Given the description of an element on the screen output the (x, y) to click on. 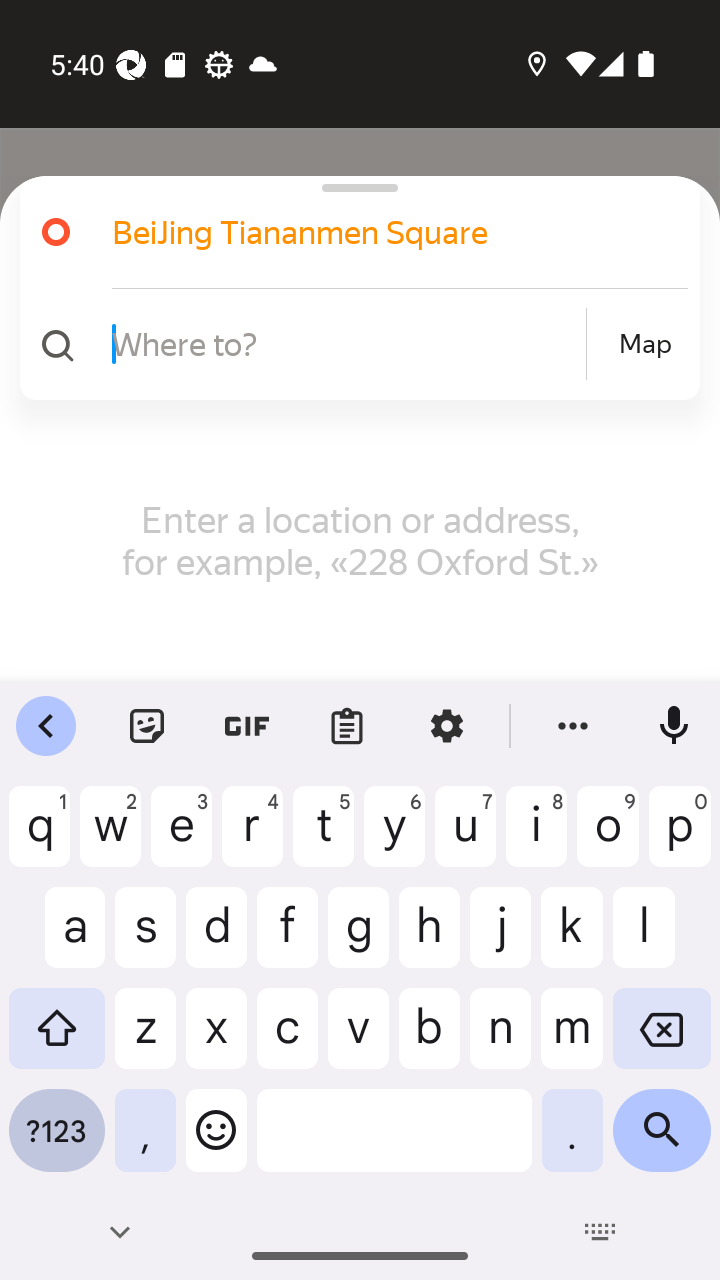
BeiJing Tiananmen Square (352, 232)
BeiJing Tiananmen Square (373, 232)
Where to? Map Map (352, 343)
Map (645, 343)
Where to? (346, 343)
